Given the description of an element on the screen output the (x, y) to click on. 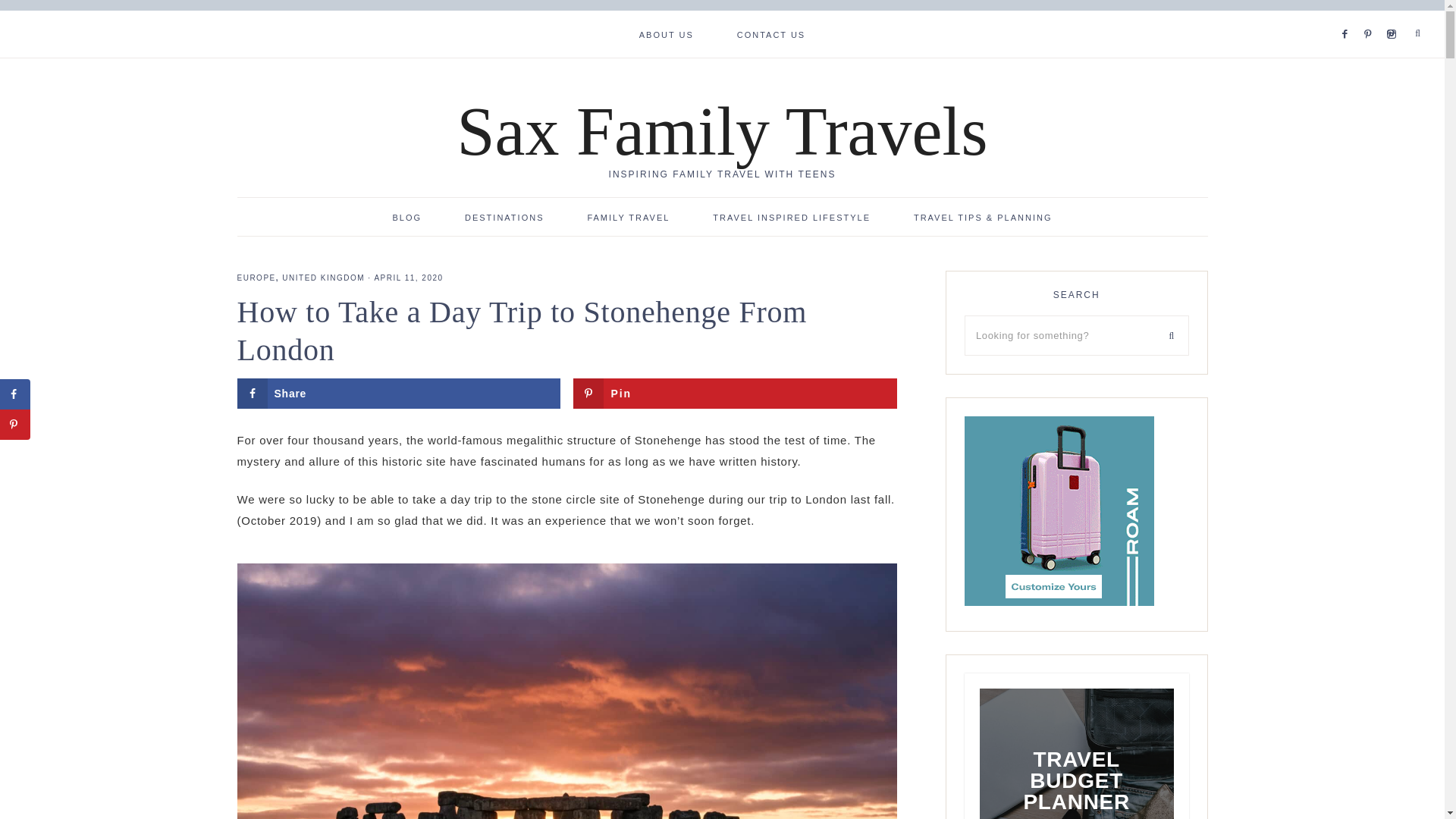
ABOUT US (666, 33)
Pin (734, 393)
EUROPE (255, 277)
Pinterest (1371, 14)
CONTACT US (771, 33)
Facebook (1348, 14)
Sax Family Travels (722, 131)
UNITED KINGDOM (323, 277)
DESTINATIONS (504, 216)
BLOG (407, 216)
Pinterest (1393, 14)
Save to Pinterest (734, 393)
FAMILY TRAVEL (627, 216)
TRAVEL INSPIRED LIFESTYLE (791, 216)
Share (397, 393)
